Given the description of an element on the screen output the (x, y) to click on. 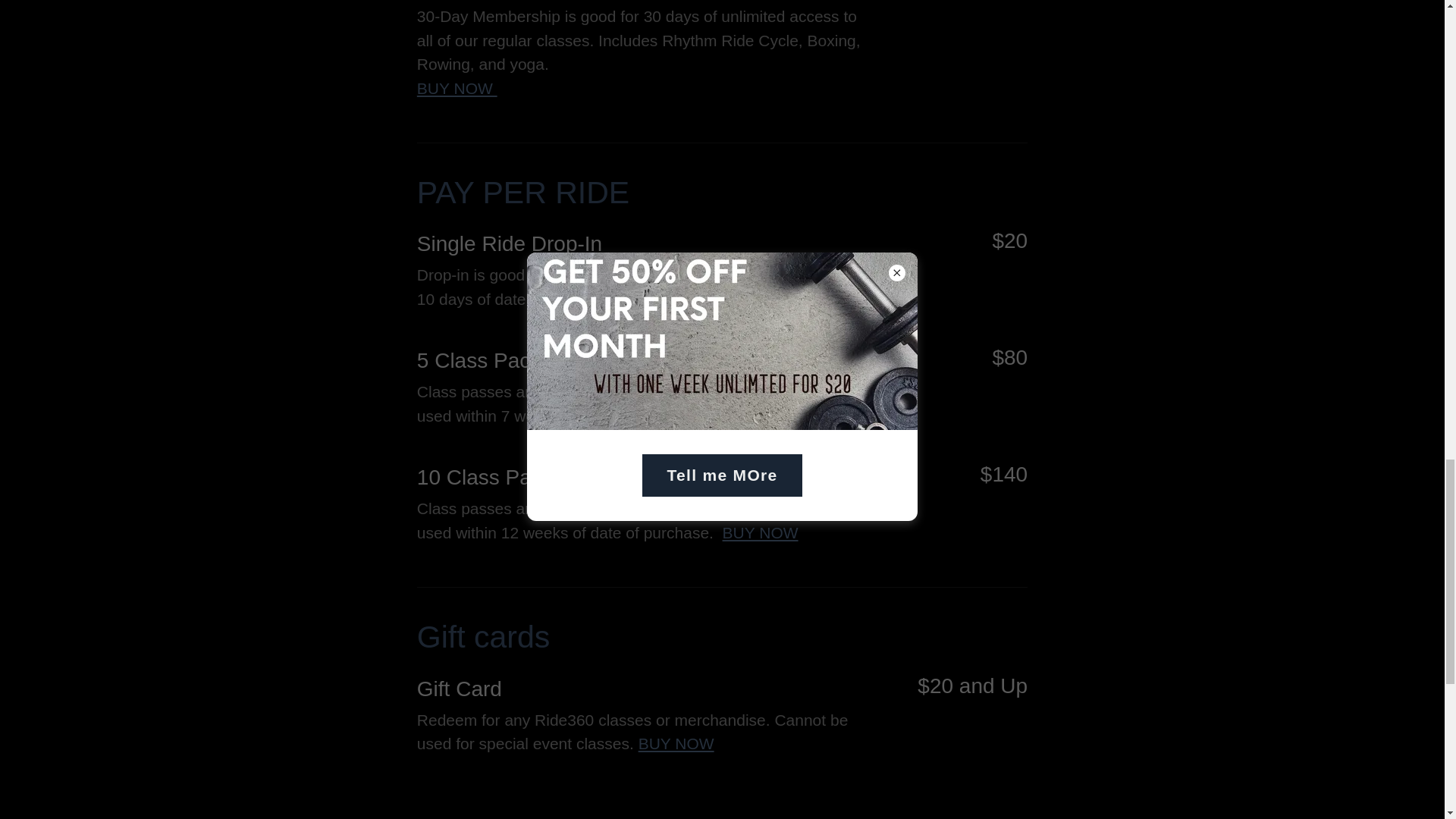
BUY NOW (660, 298)
BUY NOW (746, 416)
BUY NOW  (456, 88)
BUY NOW (676, 743)
BUY NOW (759, 532)
